Given the description of an element on the screen output the (x, y) to click on. 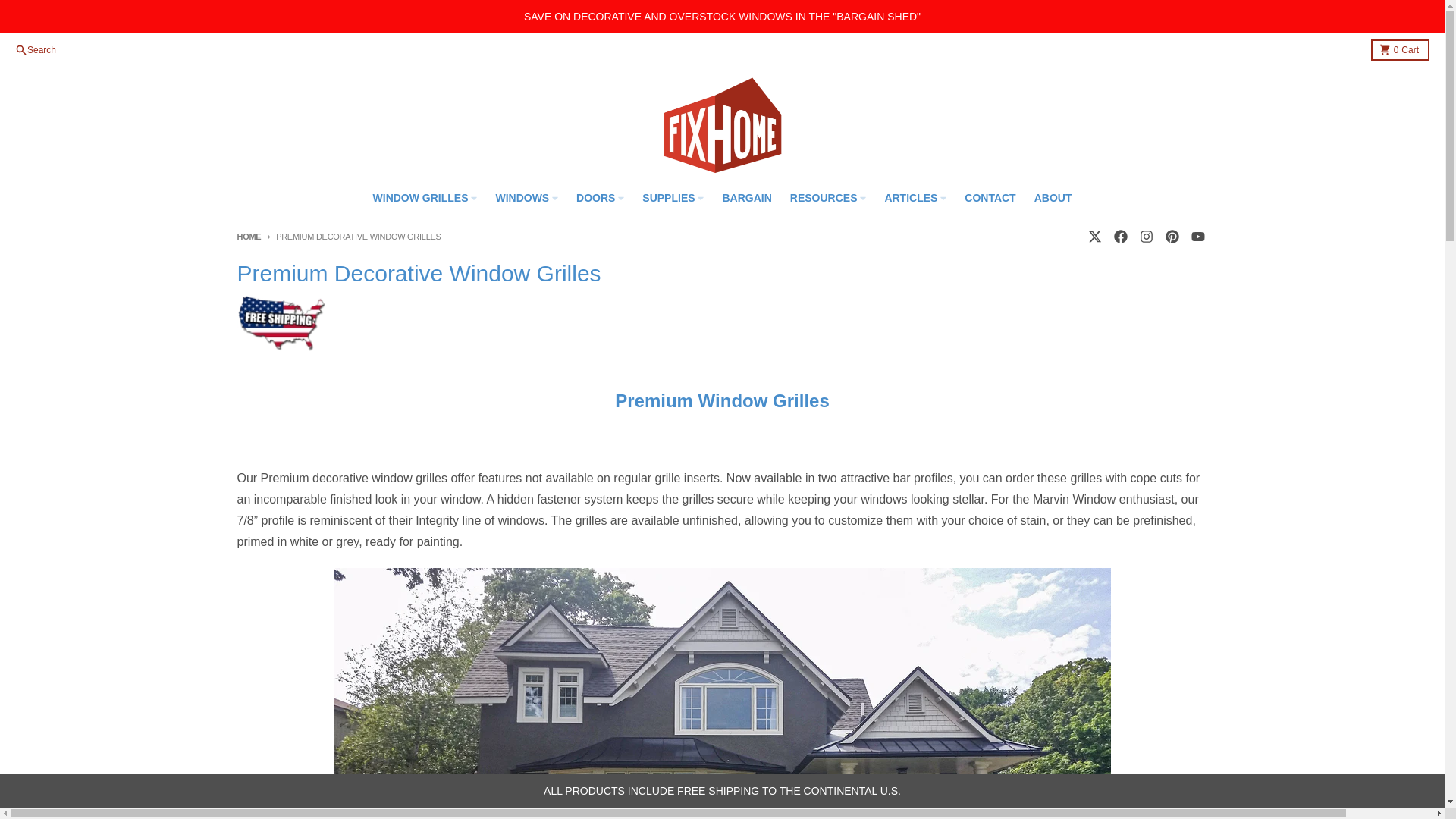
YouTube - FixHome (1197, 235)
Instagram - FixHome (1145, 235)
Search (35, 49)
Pinterest - FixHome (1170, 235)
Back to the homepage (247, 235)
Twitter - FixHome (1400, 49)
Facebook - FixHome (1093, 235)
